Given the description of an element on the screen output the (x, y) to click on. 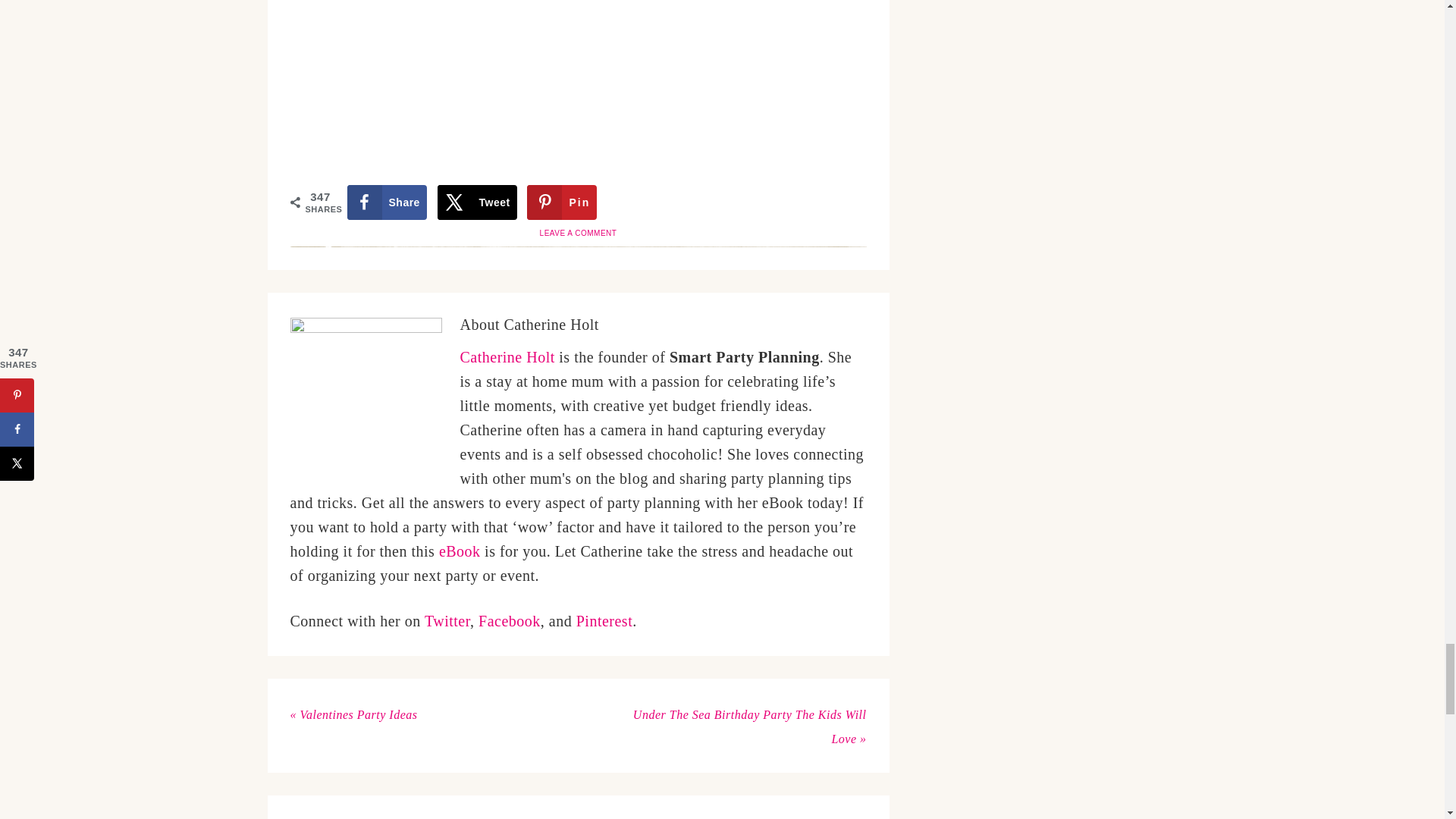
Save to Pinterest (561, 202)
Share on X (477, 202)
Share on Facebook (386, 202)
